Given the description of an element on the screen output the (x, y) to click on. 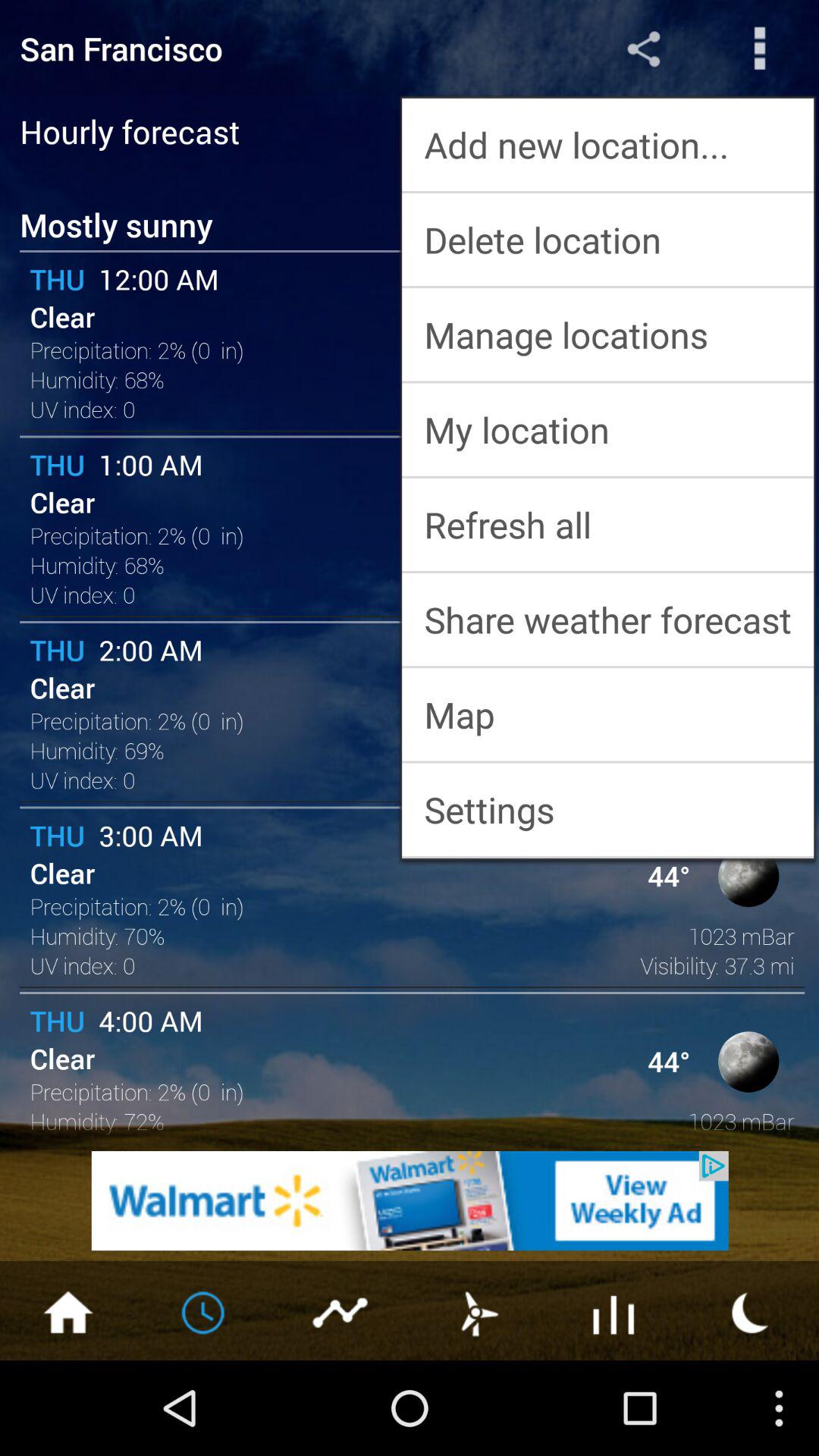
click the share weather forecast (607, 619)
